Given the description of an element on the screen output the (x, y) to click on. 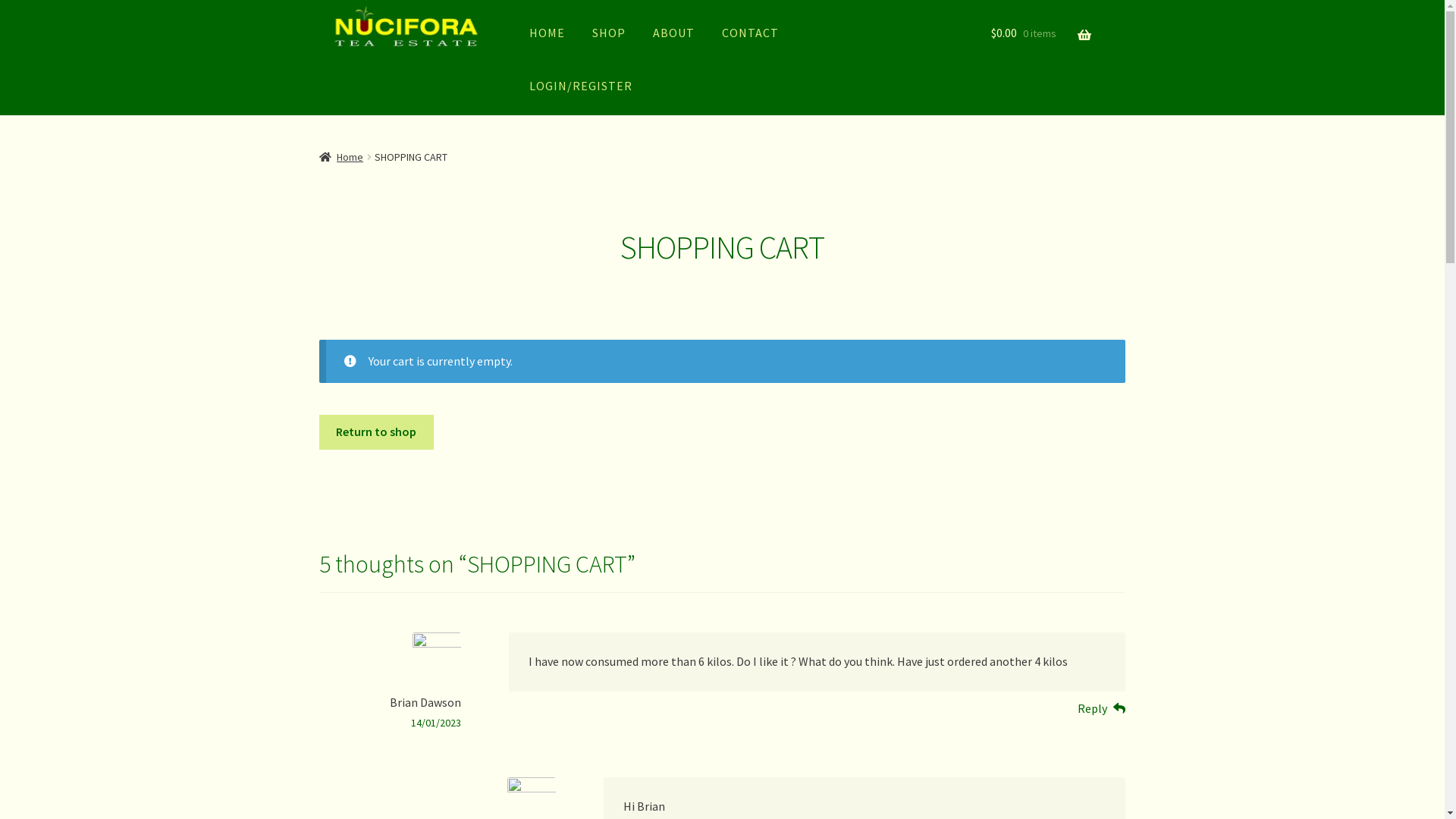
CONTACT Element type: text (749, 32)
Return to shop Element type: text (376, 431)
14/01/2023 Element type: text (436, 722)
HOME Element type: text (547, 32)
$0.00 0 items Element type: text (1041, 32)
ABOUT Element type: text (673, 32)
Home Element type: text (341, 156)
LOGIN/REGISTER Element type: text (580, 85)
SHOP Element type: text (608, 32)
Reply Element type: text (1101, 708)
